Given the description of an element on the screen output the (x, y) to click on. 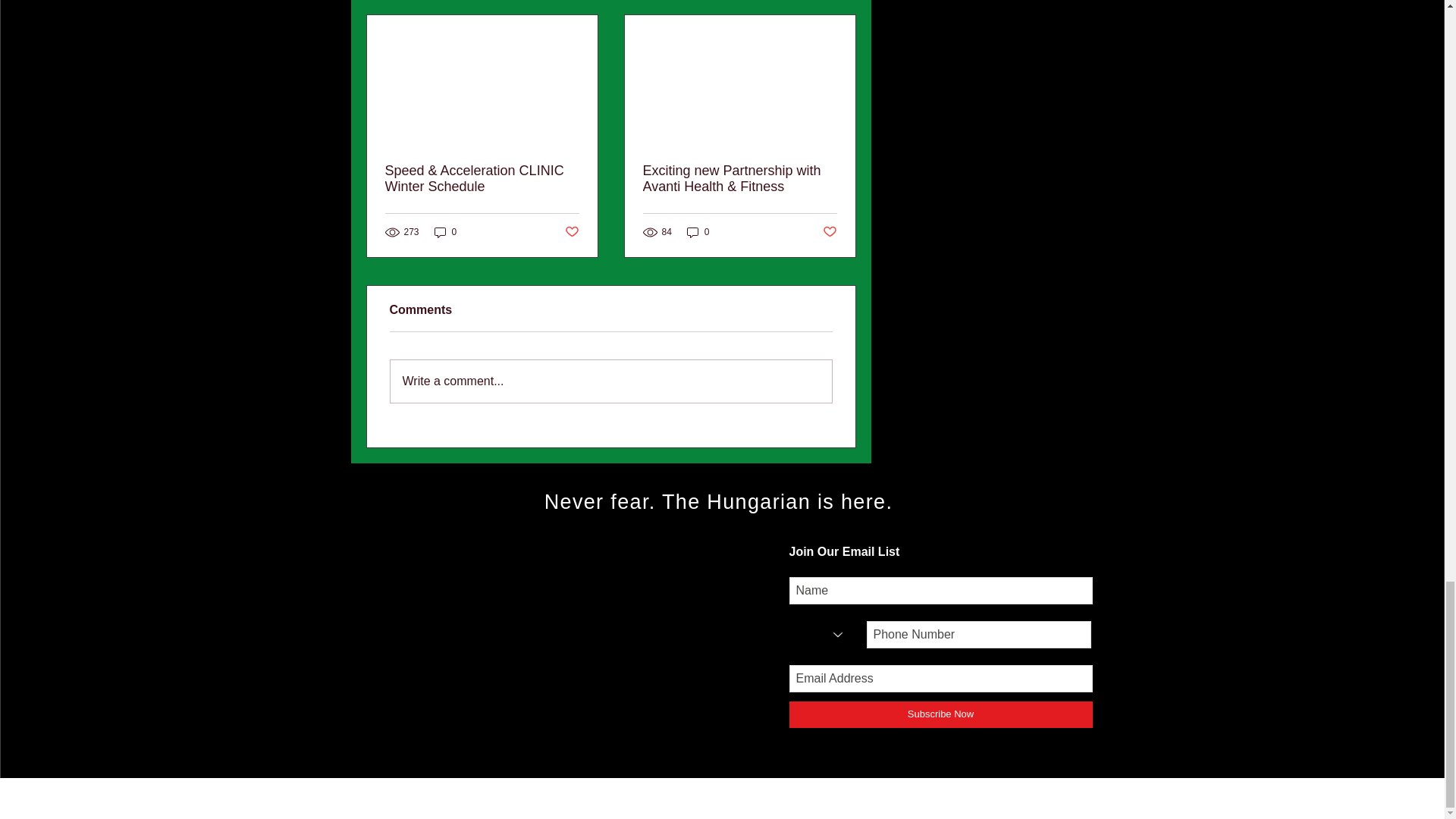
0 (445, 231)
